Given the description of an element on the screen output the (x, y) to click on. 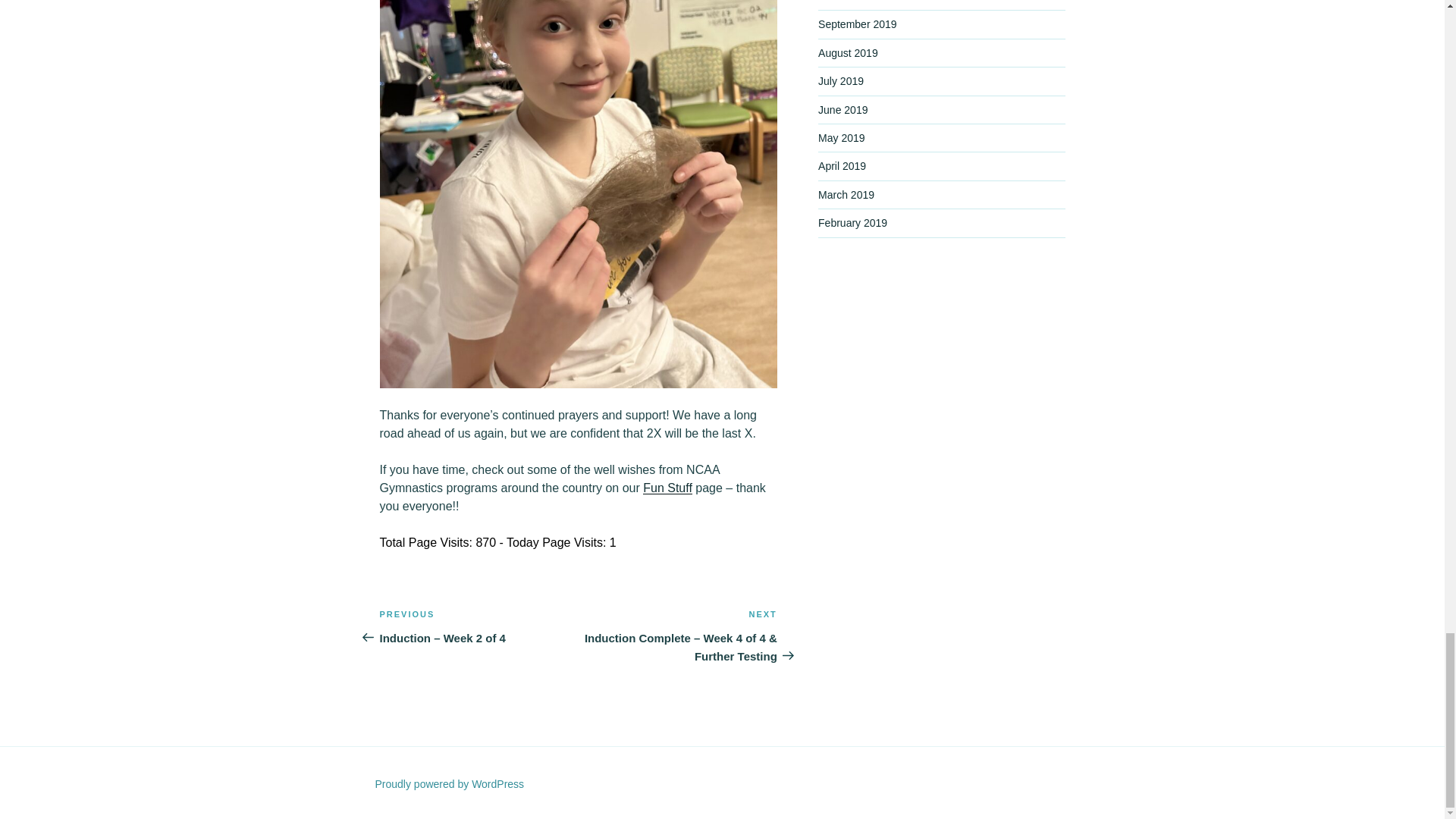
Fun Stuff (668, 487)
